Given the description of an element on the screen output the (x, y) to click on. 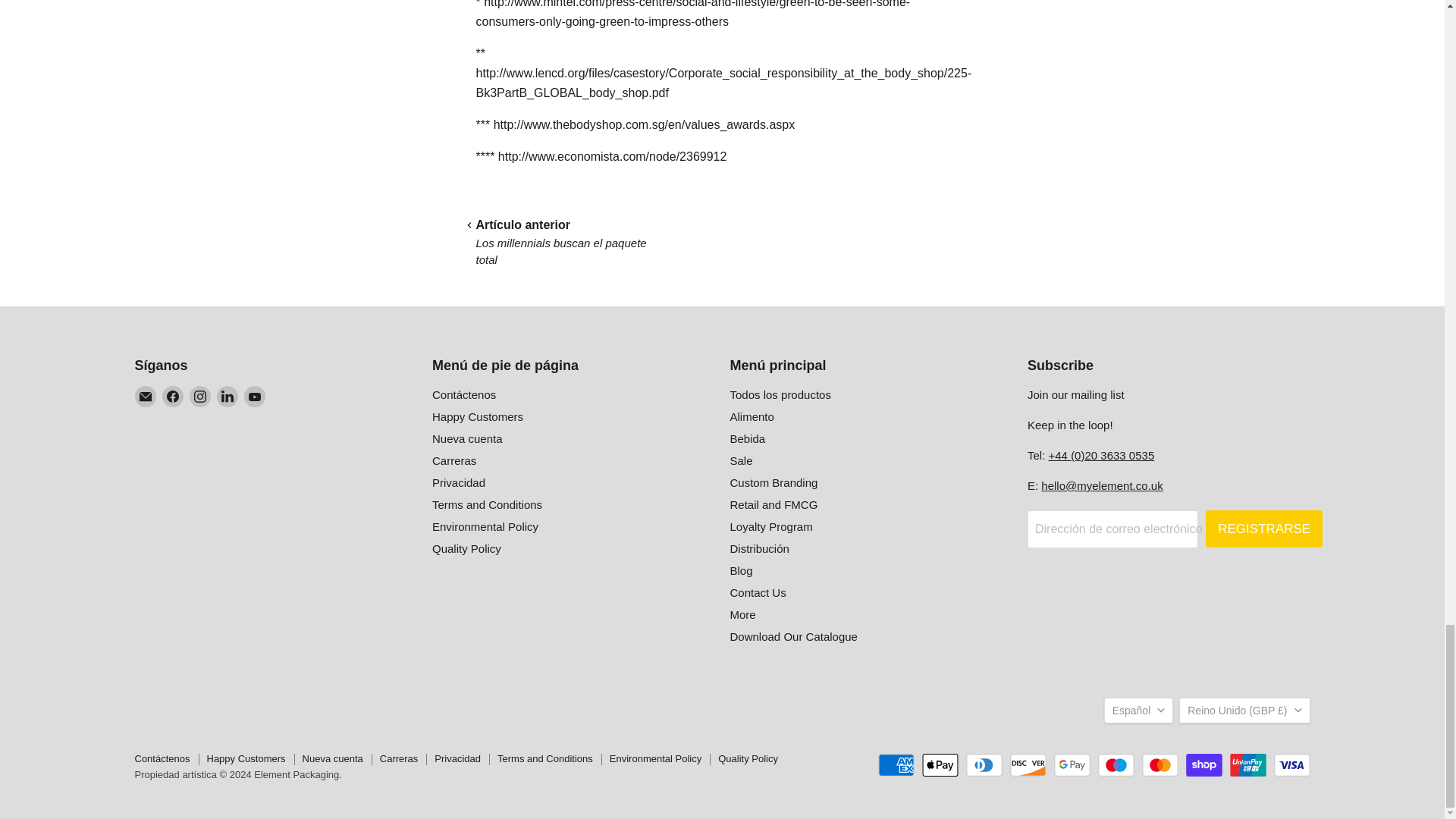
Instagram (200, 396)
LinkedIn (227, 396)
Facebook (172, 396)
YouTube (254, 396)
